Given the description of an element on the screen output the (x, y) to click on. 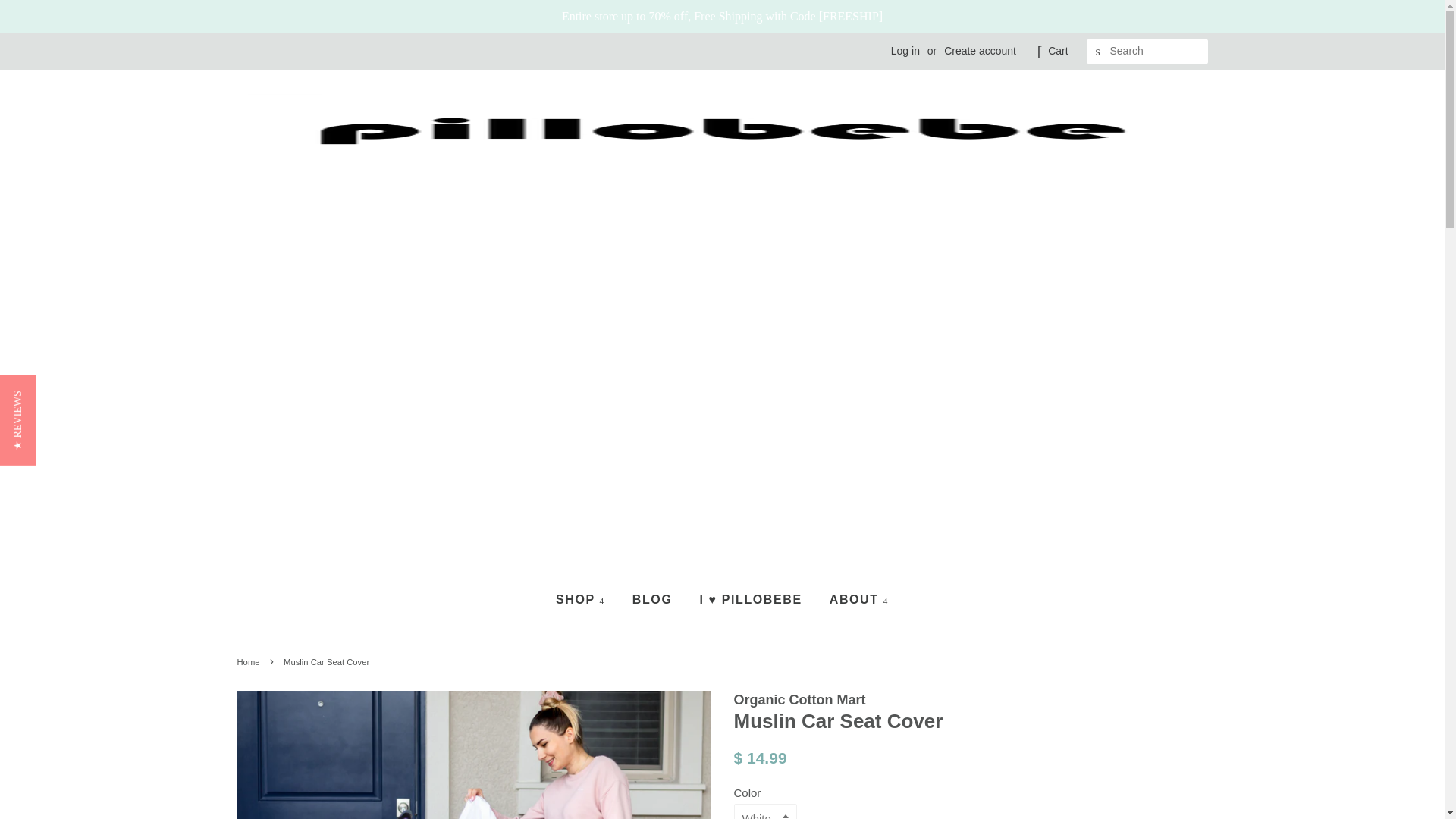
SHOP (585, 599)
Cart (1057, 51)
Log in (905, 50)
Back to the frontpage (249, 661)
Create account (979, 50)
SEARCH (1097, 51)
